Given the description of an element on the screen output the (x, y) to click on. 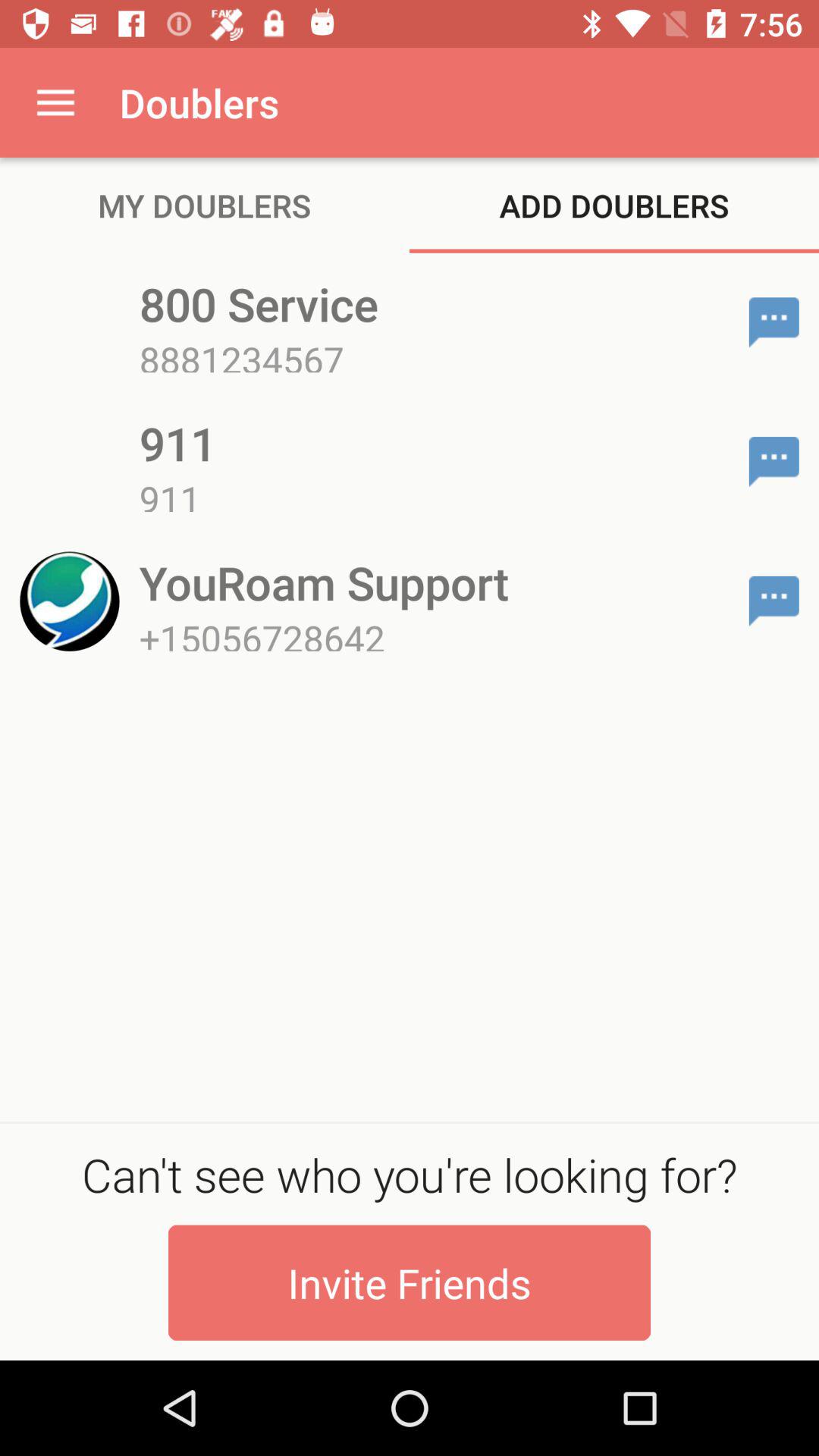
click the item to the right of 911 item (774, 461)
